Given the description of an element on the screen output the (x, y) to click on. 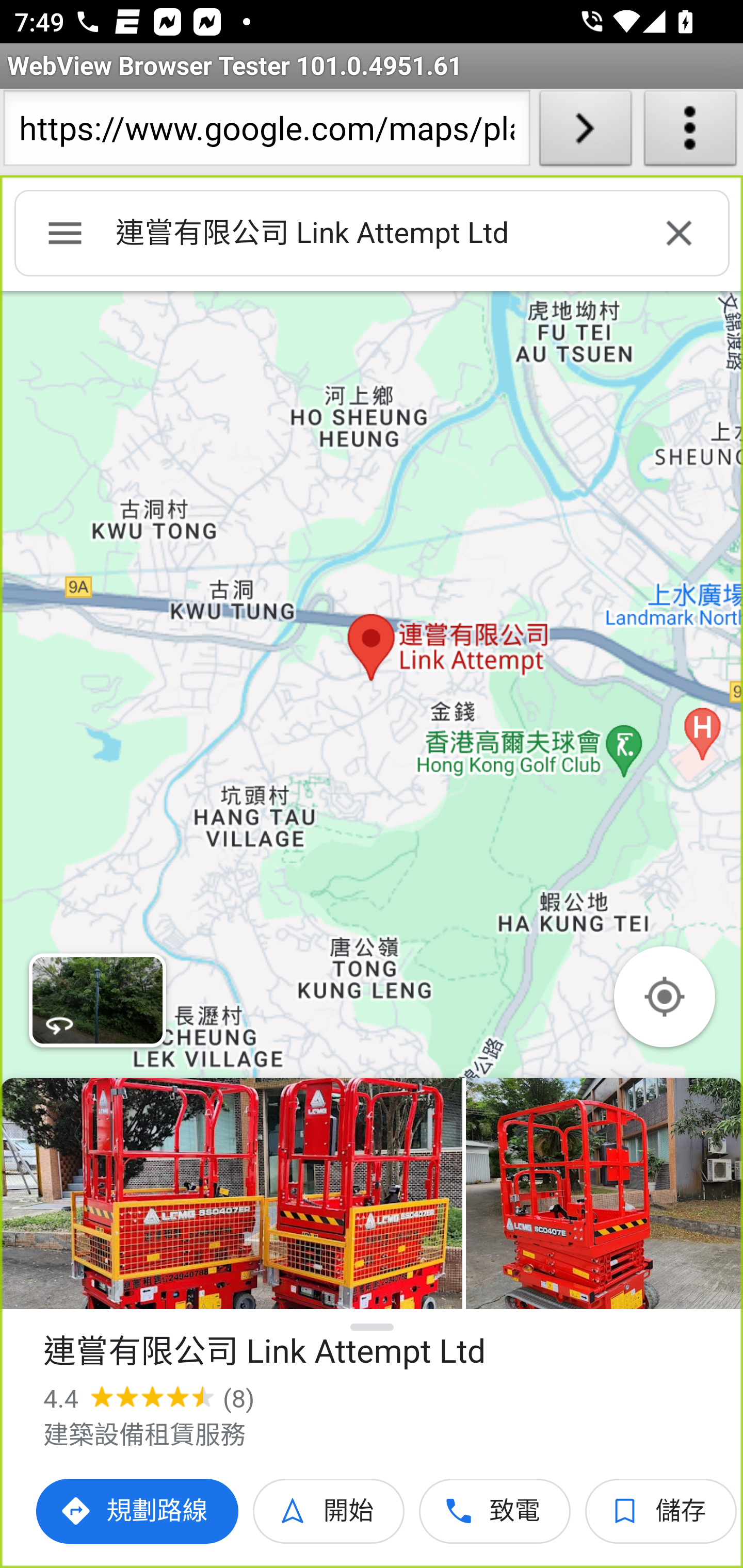
Load URL (585, 132)
About WebView (690, 132)
第 1 張相片 (共 9 張) (231, 1193)
第 2 張相片 (共 9 張) (604, 1193)
顯示詳細資料 (372, 1327)
前往連嘗有限公司 Link Attempt Ltd的路線 (137, 1511)
開始 (329, 1511)
致電「連嘗有限公司 Link Attempt Ltd」  致電 (495, 1511)
將「連嘗有限公司 Link Attempt Ltd」儲存至清單中 (661, 1511)
